Given the description of an element on the screen output the (x, y) to click on. 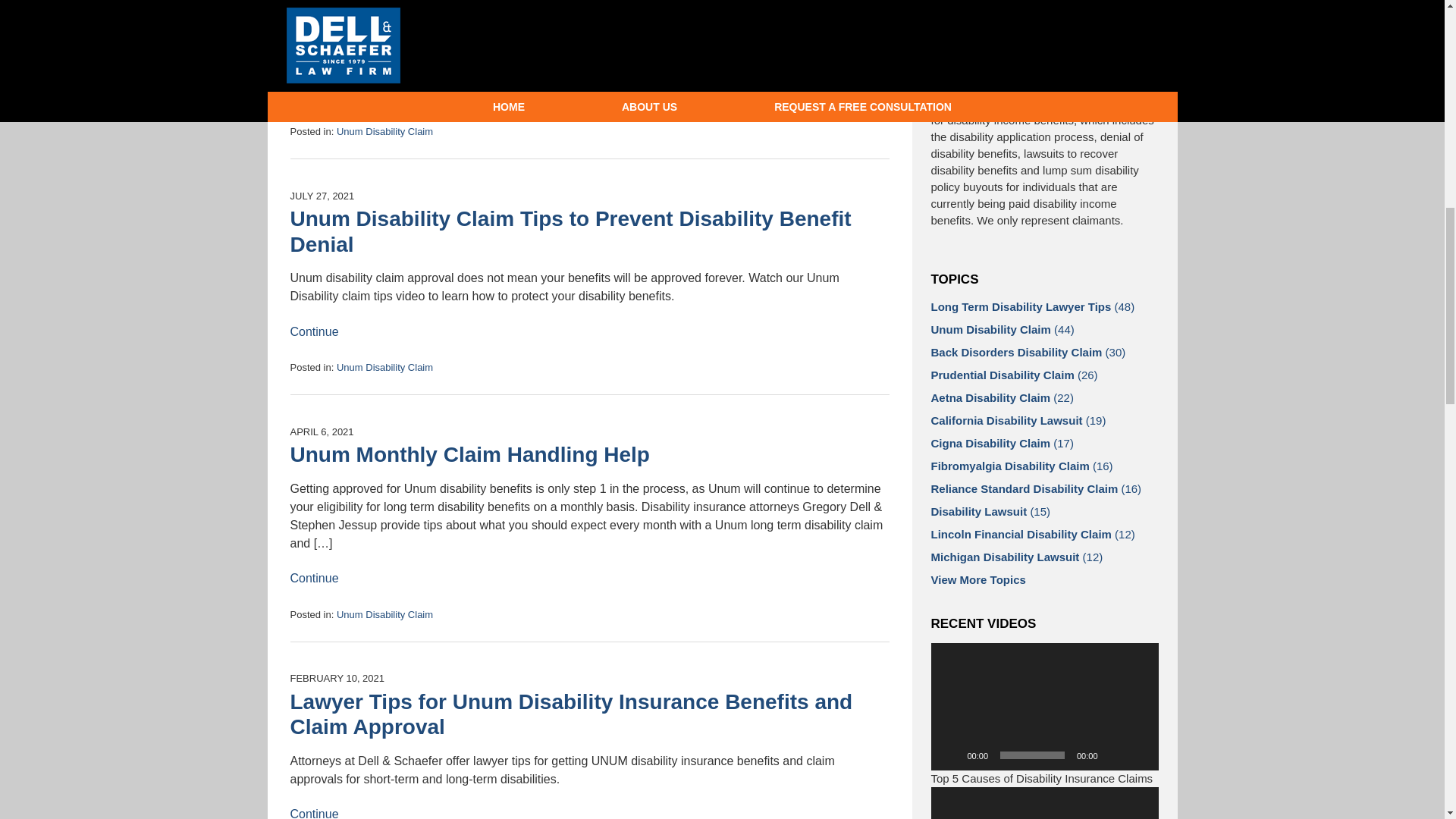
Unum Disability Claim (384, 367)
View all posts in Unum Disability Claim (384, 367)
Continue (313, 95)
Unum Disability Claim (384, 131)
Continue (313, 577)
Permalink to Unum Monthly Claim Handling Help (469, 454)
